Given the description of an element on the screen output the (x, y) to click on. 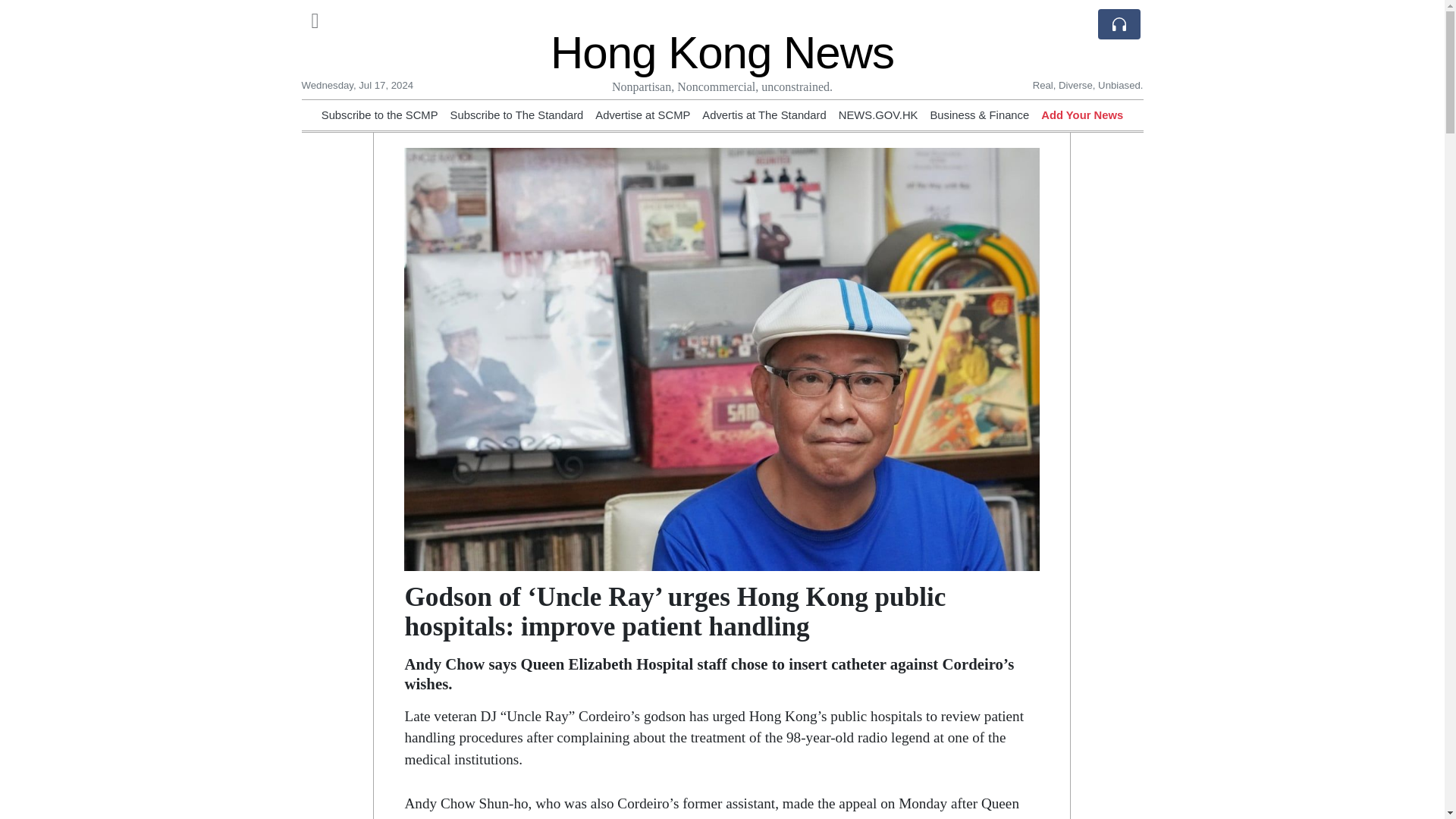
Hong Kong News (721, 52)
Advertise at SCMP (642, 114)
Advertis at The Standard (763, 114)
Subscribe to The Standard (516, 114)
Subscribe to the SCMP (379, 114)
NEWS.GOV.HK (878, 114)
Add Your News (1081, 114)
